Given the description of an element on the screen output the (x, y) to click on. 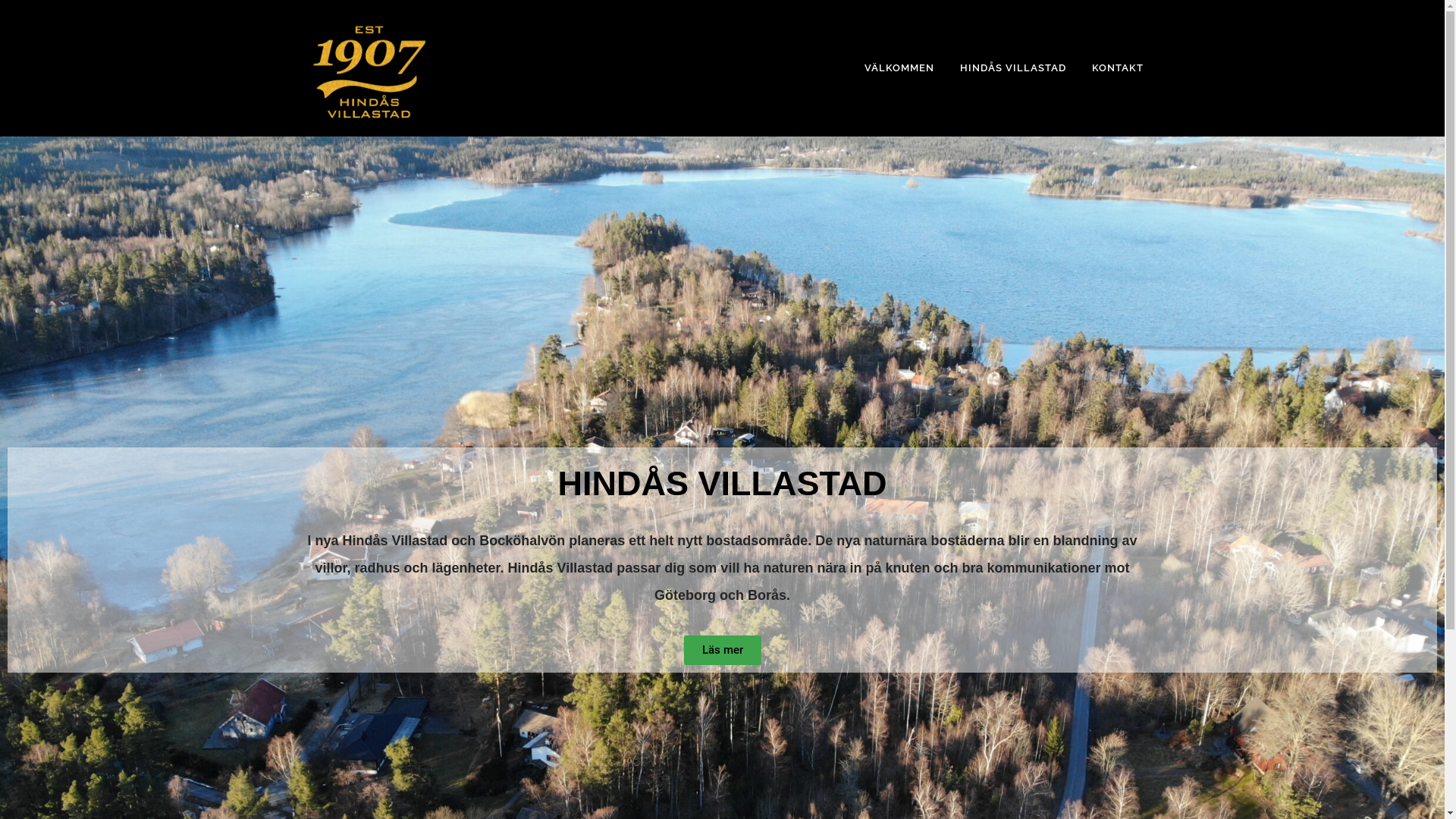
KONTAKT Element type: text (1110, 68)
